Given the description of an element on the screen output the (x, y) to click on. 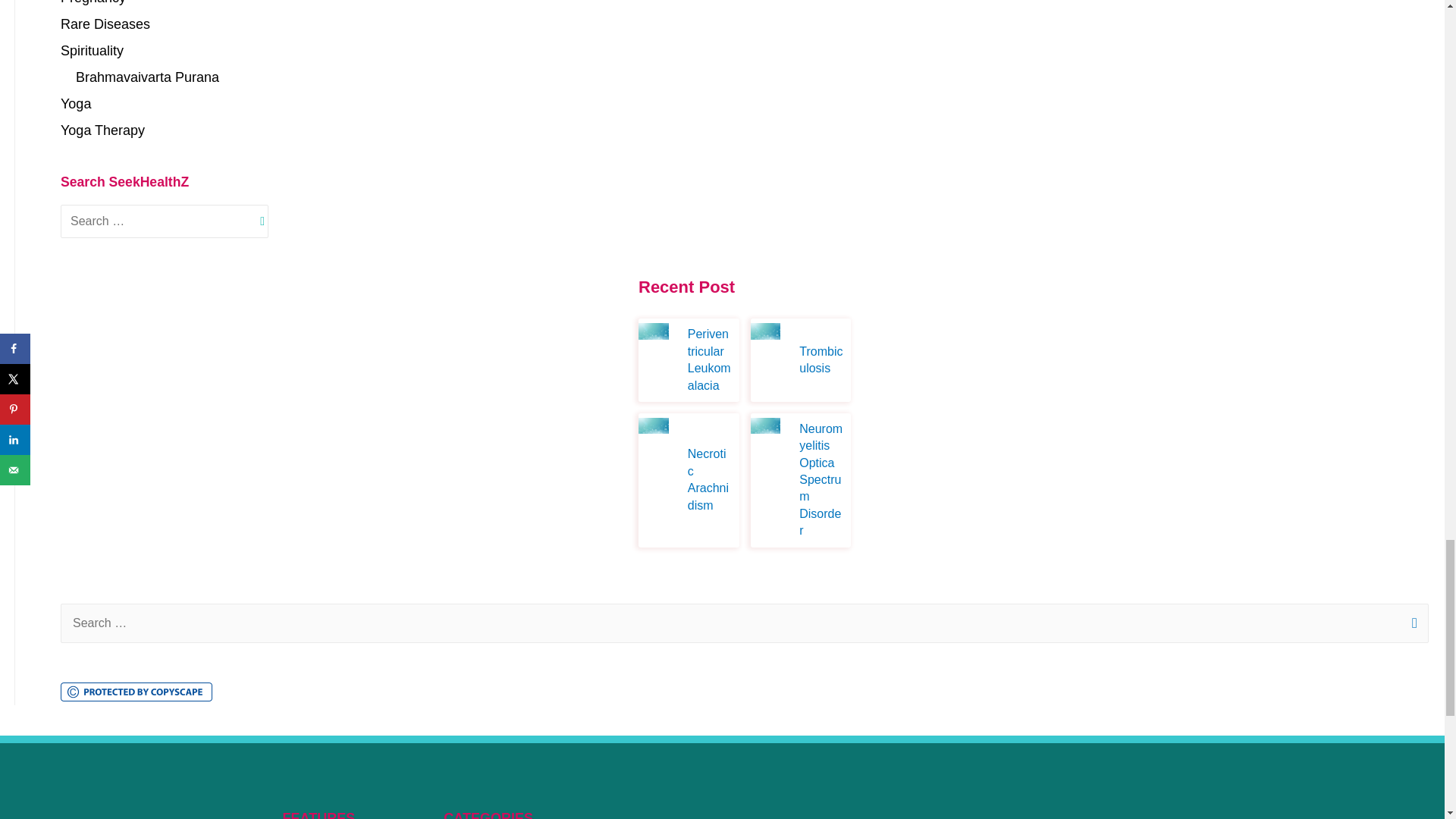
Protected by Copyscape - Do not copy content from this page. (136, 691)
